Given the description of an element on the screen output the (x, y) to click on. 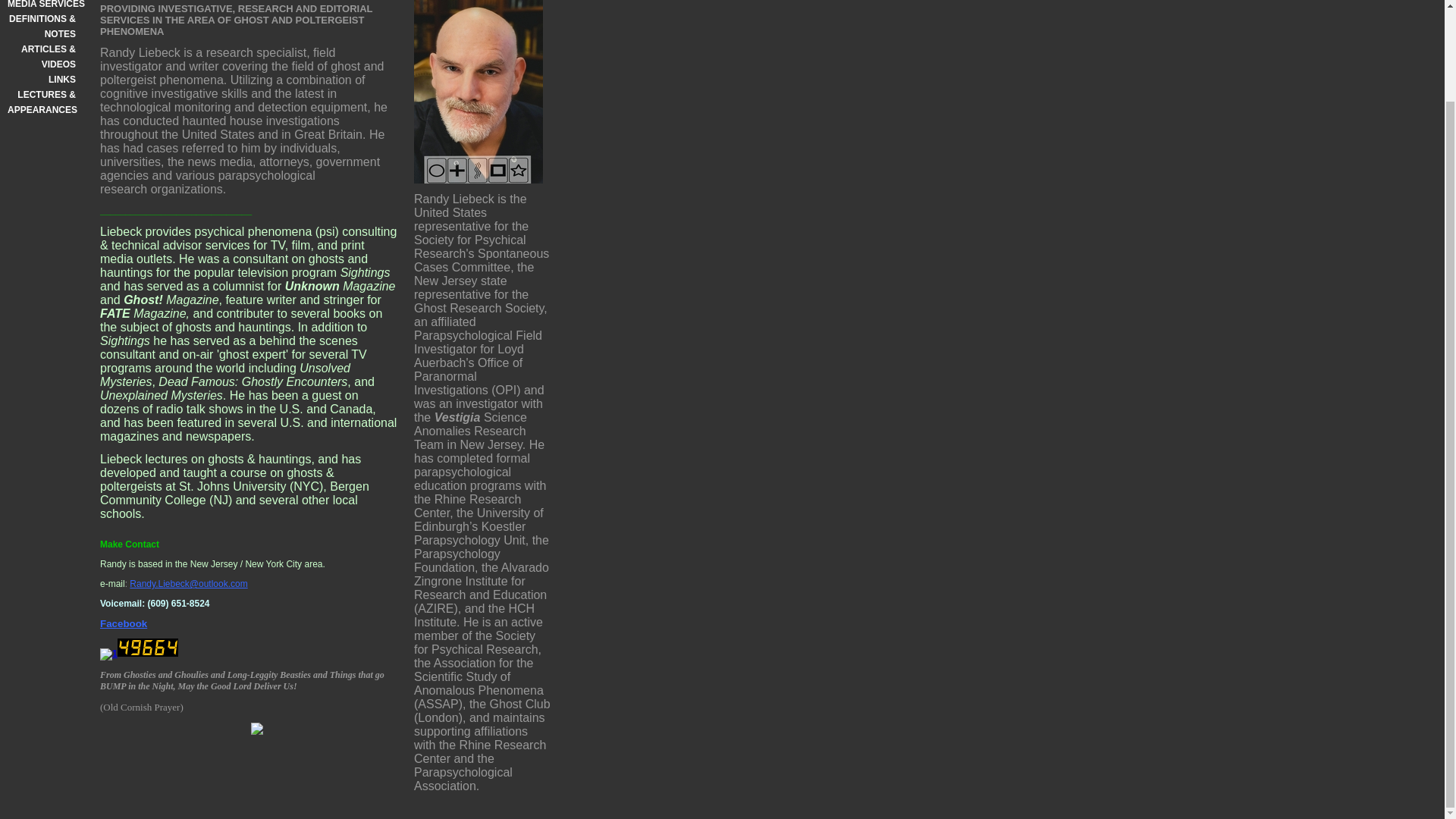
Facebook (123, 624)
MEDIA SERVICES (41, 5)
LINKS (41, 79)
Facebook (123, 624)
